Given the description of an element on the screen output the (x, y) to click on. 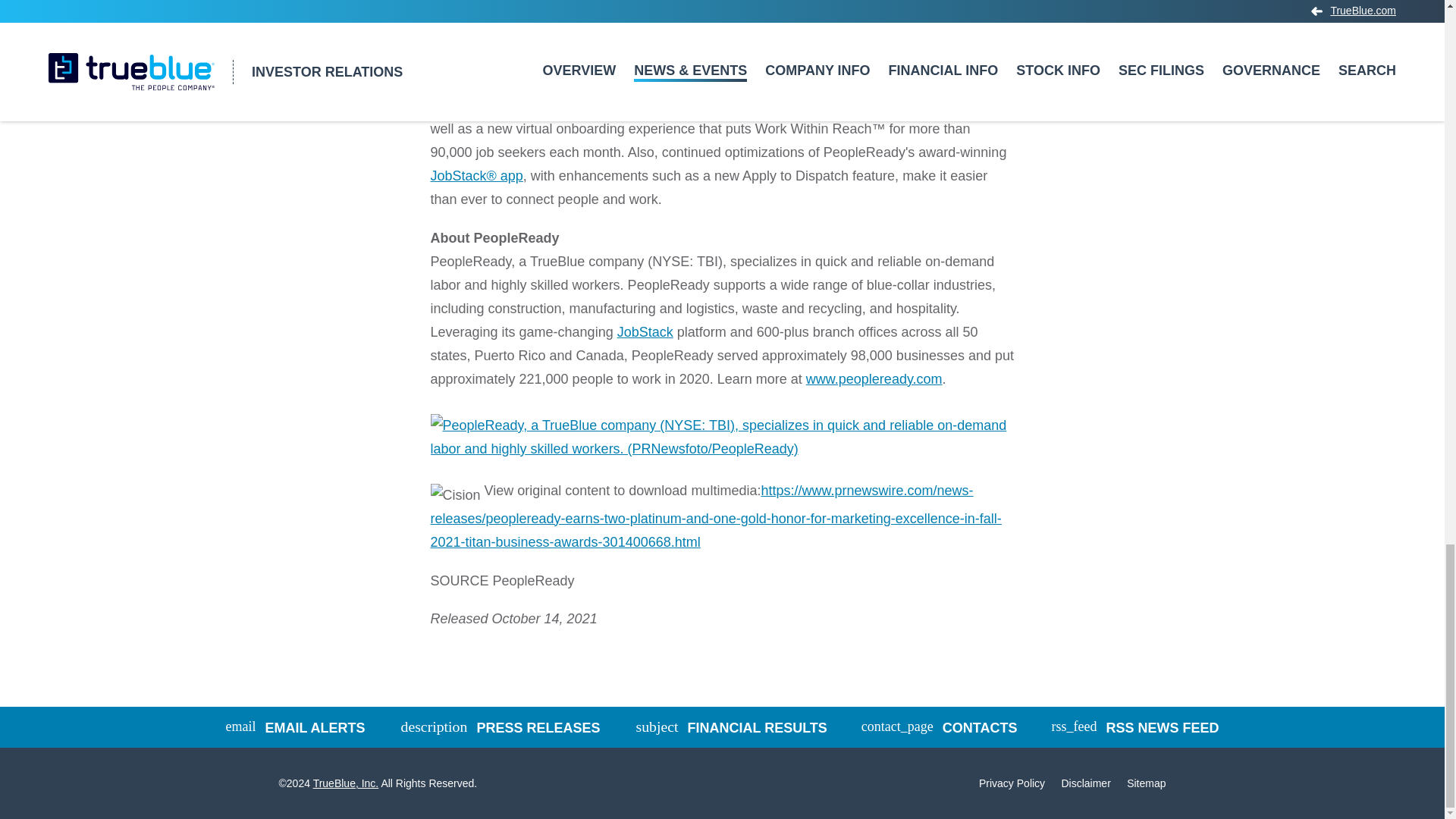
Opens in a new window (476, 175)
Opens in a new window (715, 516)
Opens in a new window (722, 432)
Opens in a new window (874, 378)
Opens in a new window (644, 331)
Cision (455, 495)
Opens in a new window (1134, 727)
